Given the description of an element on the screen output the (x, y) to click on. 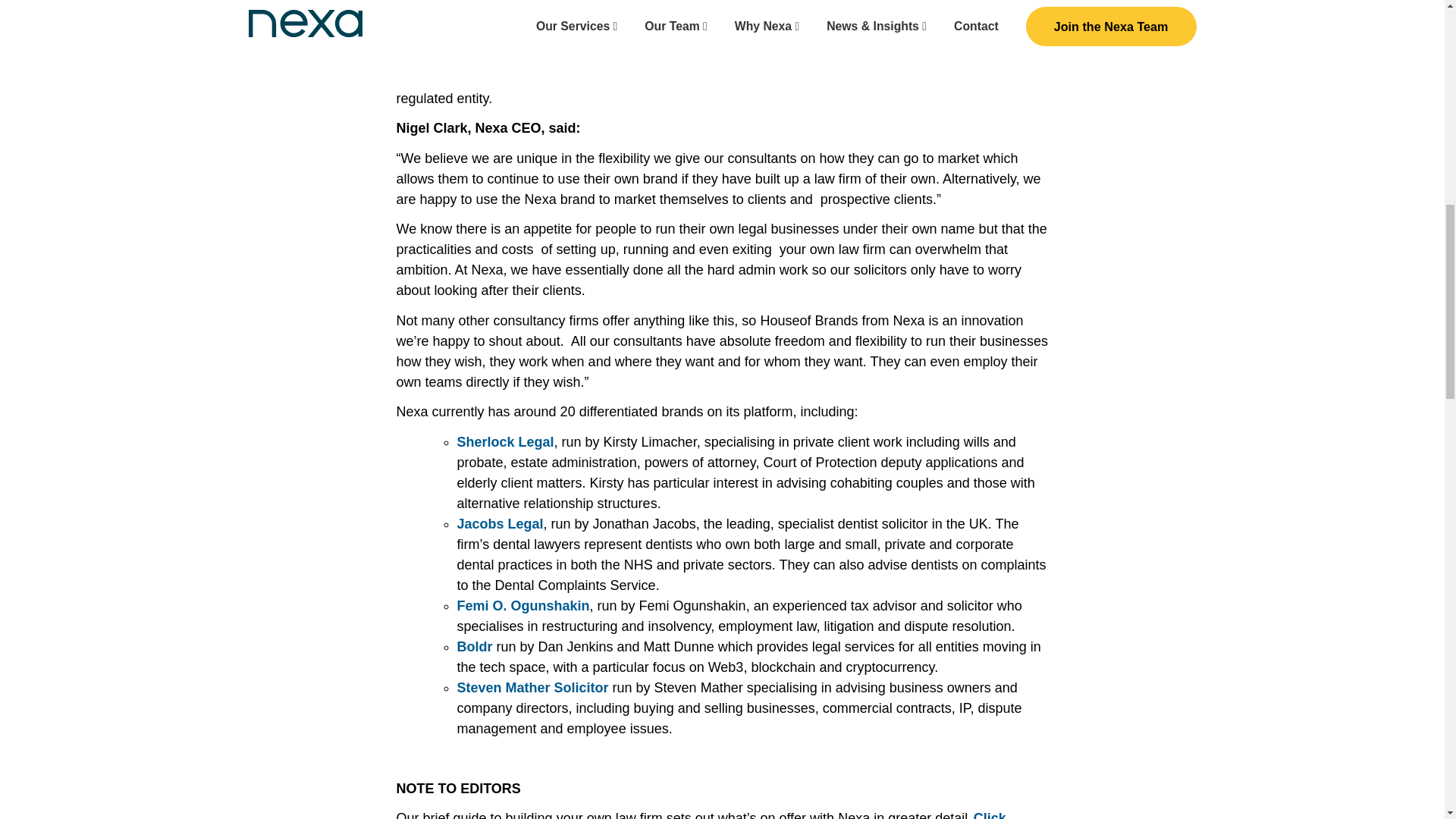
Click here (701, 814)
Femi O. Ogunshakin (523, 604)
Jacobs Legal (500, 522)
Boldr (474, 645)
Sherlock Legal (505, 441)
Steven Mather Solicitor (532, 686)
